Given the description of an element on the screen output the (x, y) to click on. 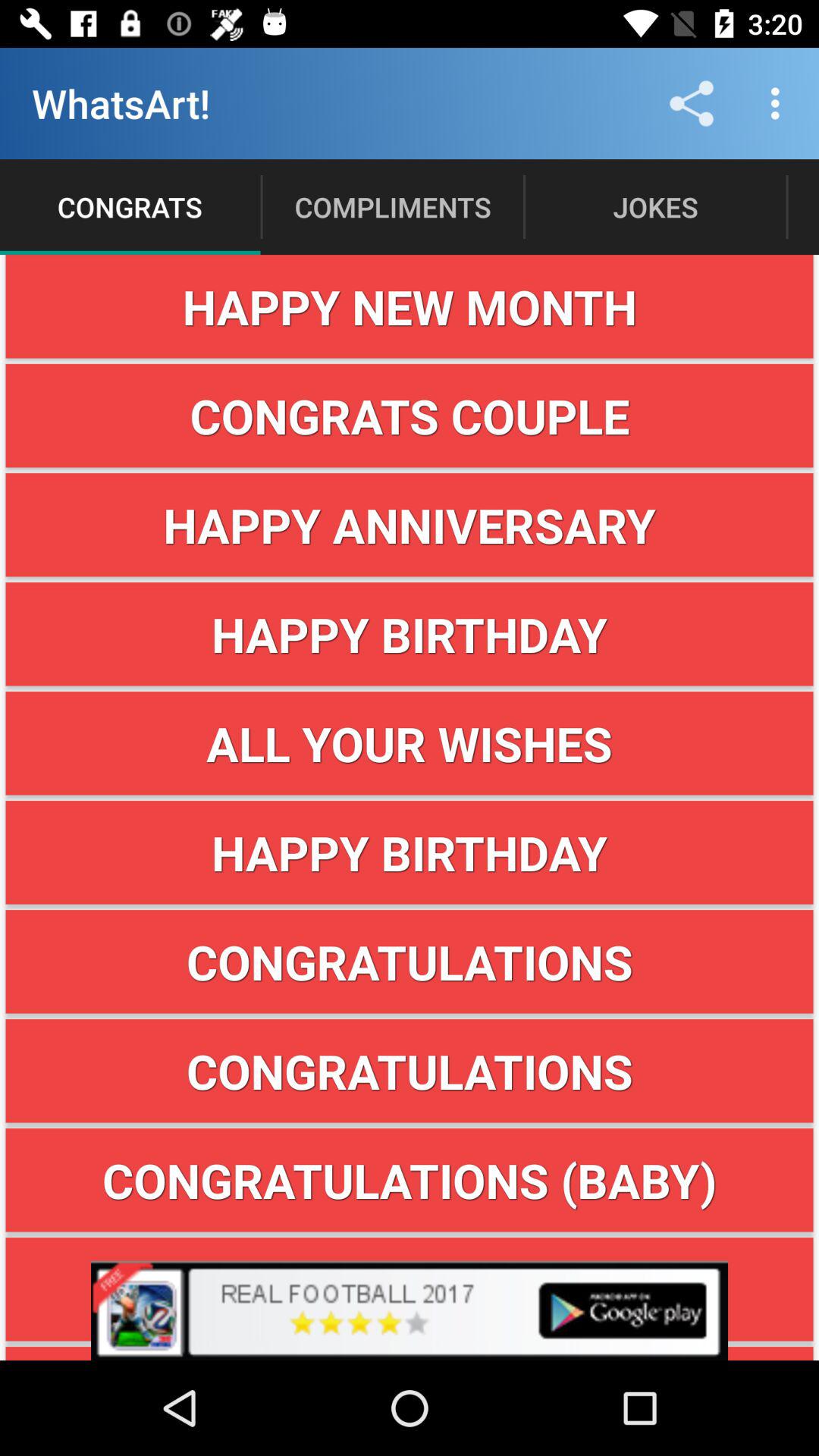
select item below congratulations icon (409, 1179)
